Given the description of an element on the screen output the (x, y) to click on. 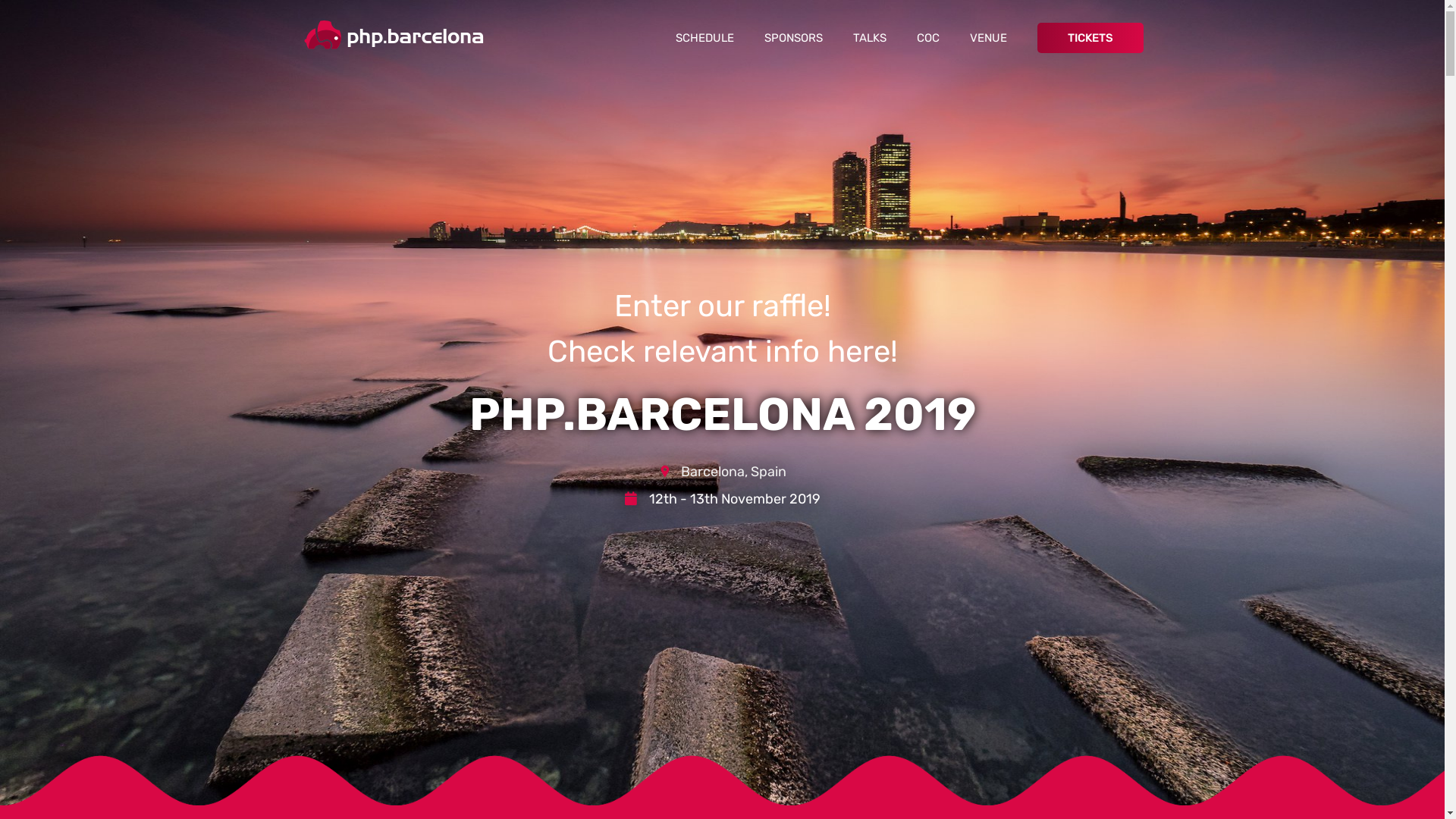
SPONSORS Element type: text (793, 37)
VENUE Element type: text (987, 37)
COC Element type: text (926, 37)
Enter our raffle! Element type: text (722, 305)
TICKETS Element type: text (1090, 37)
TALKS Element type: text (868, 37)
SCHEDULE Element type: text (703, 37)
Check relevant info here! Element type: text (722, 351)
